Given the description of an element on the screen output the (x, y) to click on. 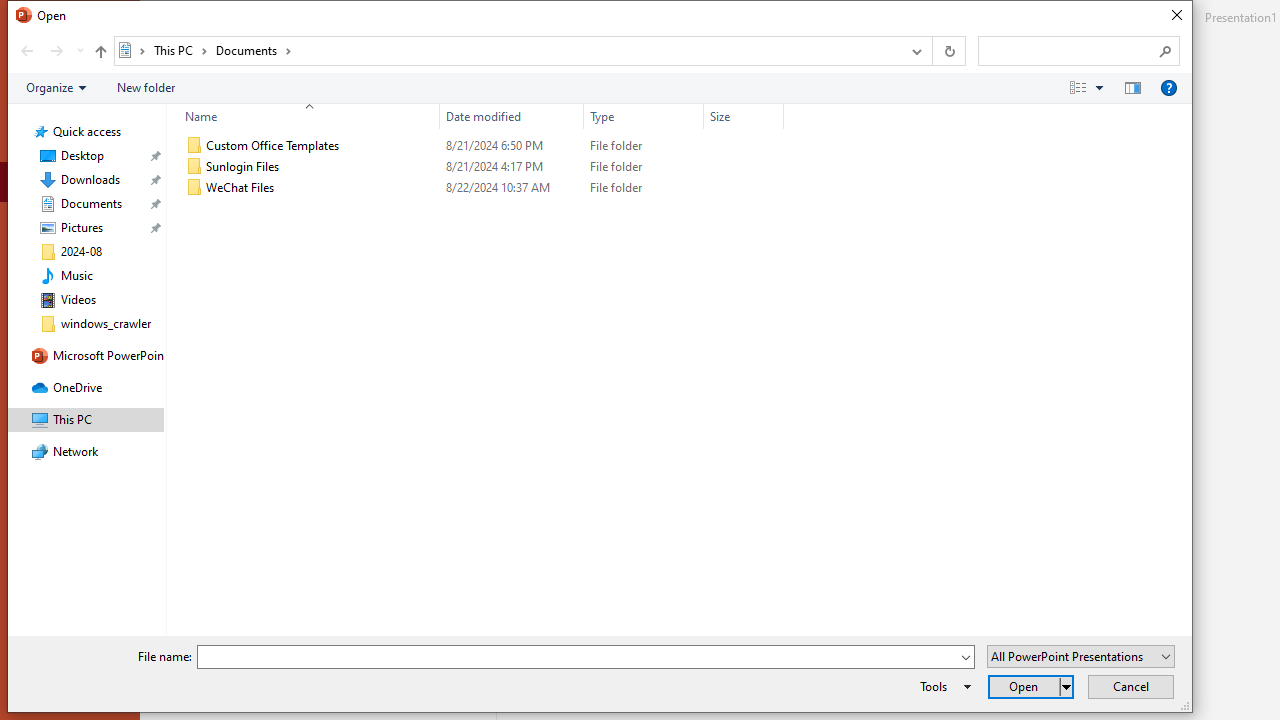
Views (1090, 87)
Name (303, 115)
Documents (253, 50)
Type (643, 187)
Back (Alt + Left Arrow) (26, 51)
Command Module (599, 87)
Refresh "Documents" (F5) (948, 51)
WeChat Files (480, 187)
All locations (132, 50)
Previous Locations (914, 51)
